Given the description of an element on the screen output the (x, y) to click on. 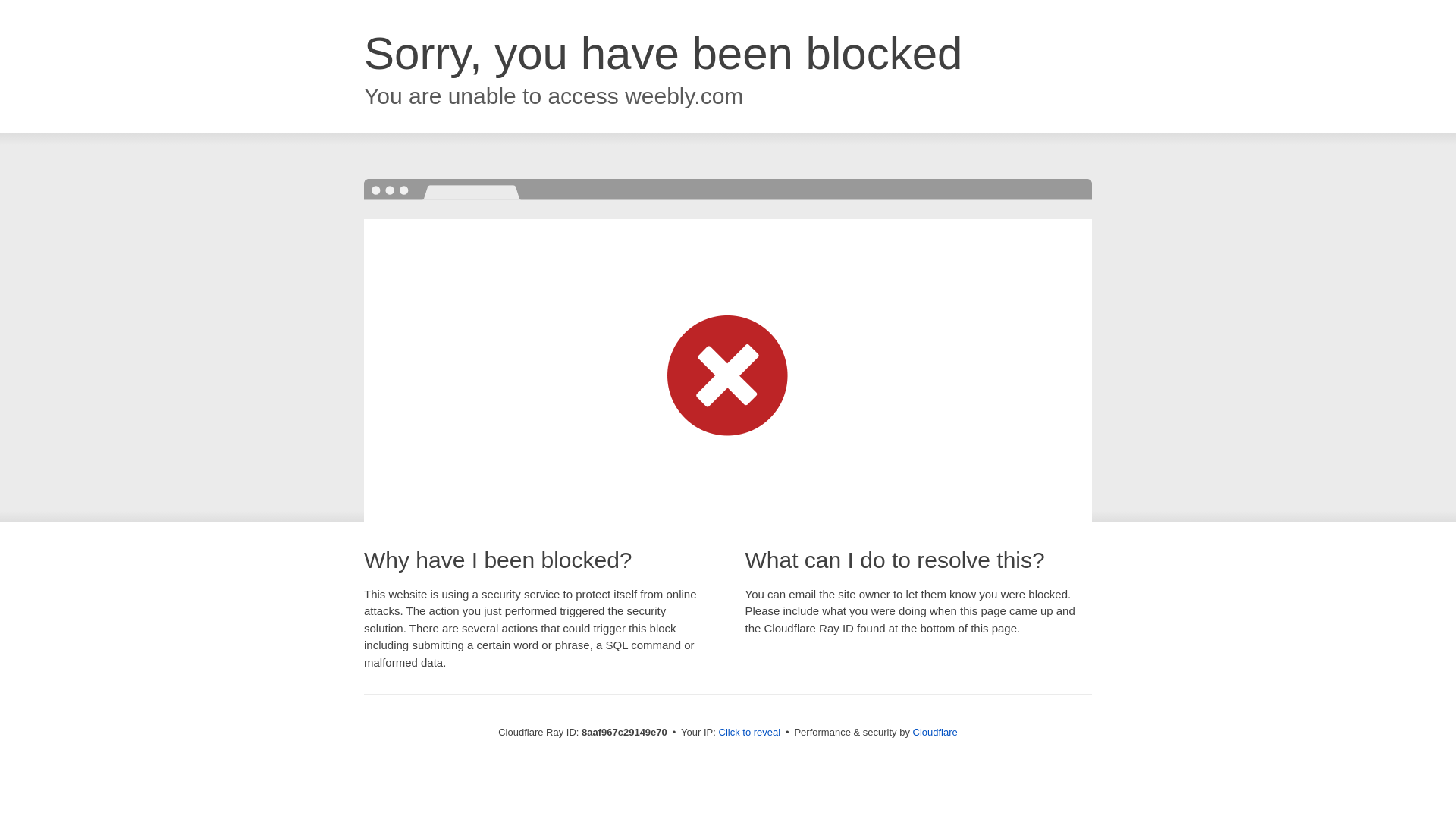
Click to reveal (749, 732)
Cloudflare (935, 731)
